Given the description of an element on the screen output the (x, y) to click on. 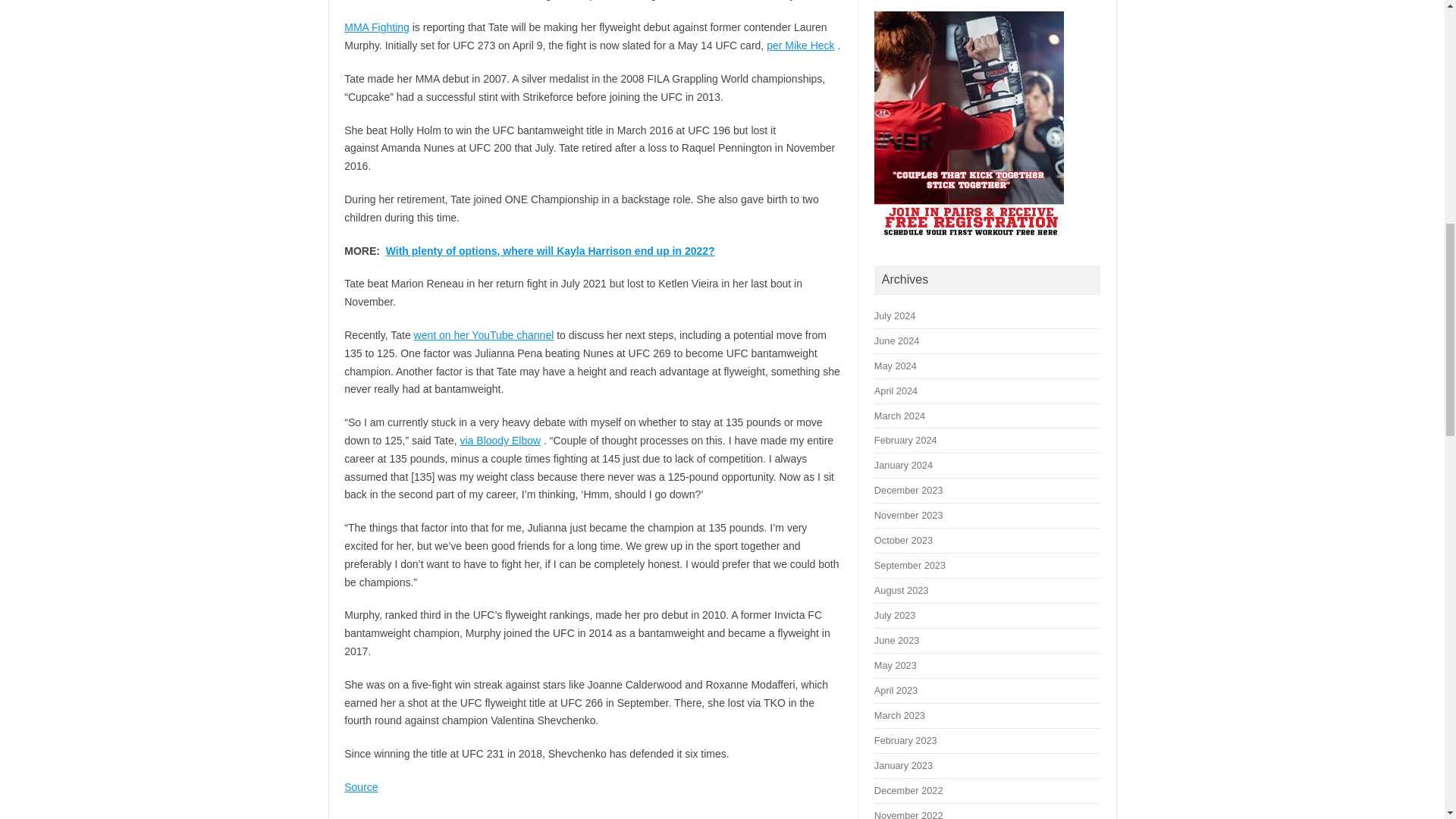
February 2024 (906, 439)
January 2024 (904, 464)
Source (360, 787)
May 2024 (896, 365)
went on her YouTube channel (483, 335)
June 2024 (896, 340)
March 2024 (899, 415)
July 2024 (895, 315)
MMA Fighting (376, 27)
April 2024 (896, 390)
December 2023 (909, 490)
per Mike Heck (800, 45)
via Bloody Elbow (500, 440)
Sports (406, 817)
